Given the description of an element on the screen output the (x, y) to click on. 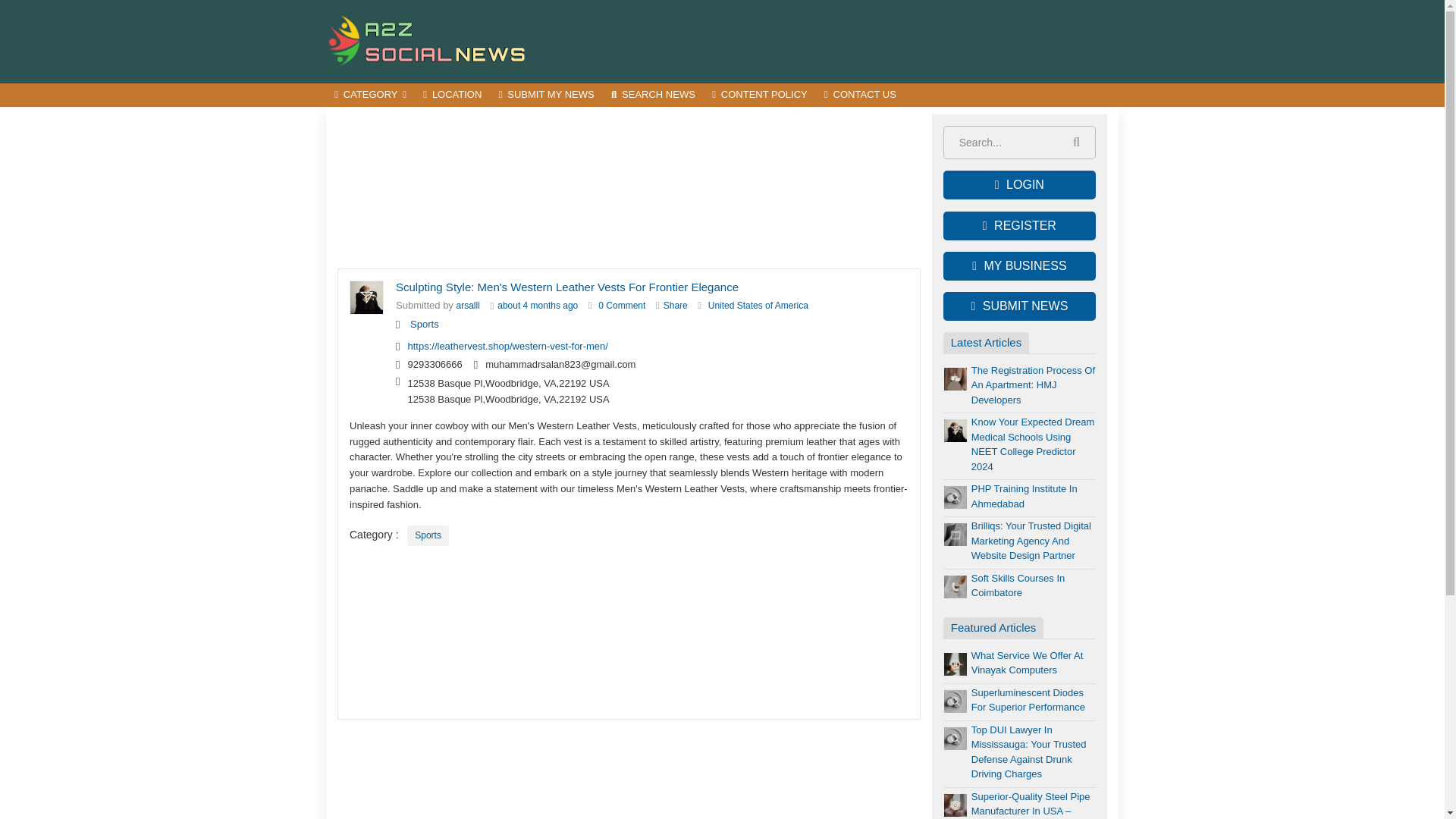
Sports (424, 324)
MY BUSINESS (1019, 265)
LOCATION (451, 95)
Share (675, 305)
about 4 months ago (537, 305)
SEARCH NEWS (652, 95)
LOGIN (1019, 184)
Sports (427, 535)
SUBMIT NEWS (1019, 306)
Share (675, 305)
CONTENT POLICY (759, 95)
Advertisement (628, 187)
United States of America (757, 305)
SUBMIT MY NEWS (546, 95)
